Given the description of an element on the screen output the (x, y) to click on. 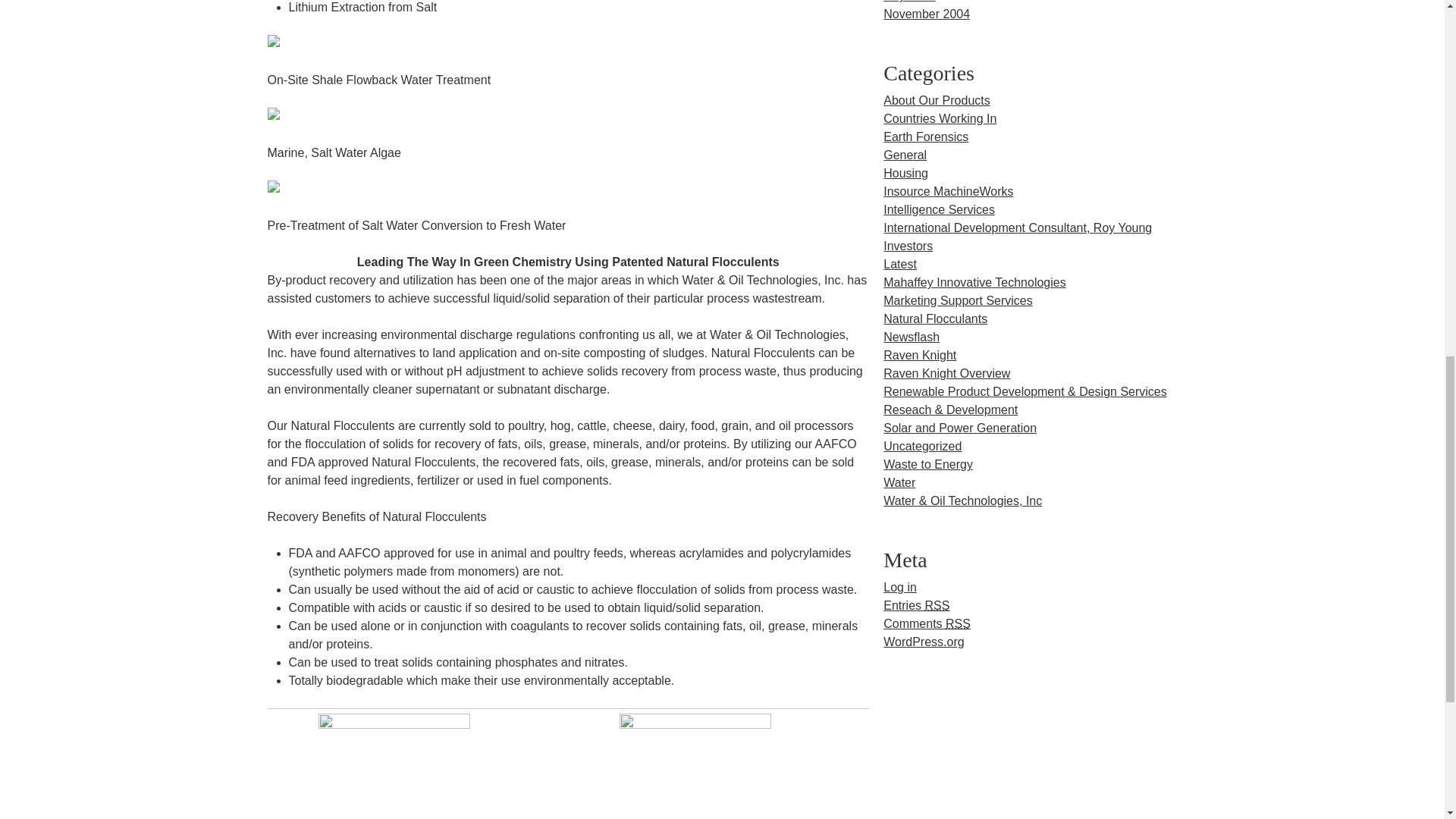
November 2004 (926, 13)
July 2008 (909, 1)
